Given the description of an element on the screen output the (x, y) to click on. 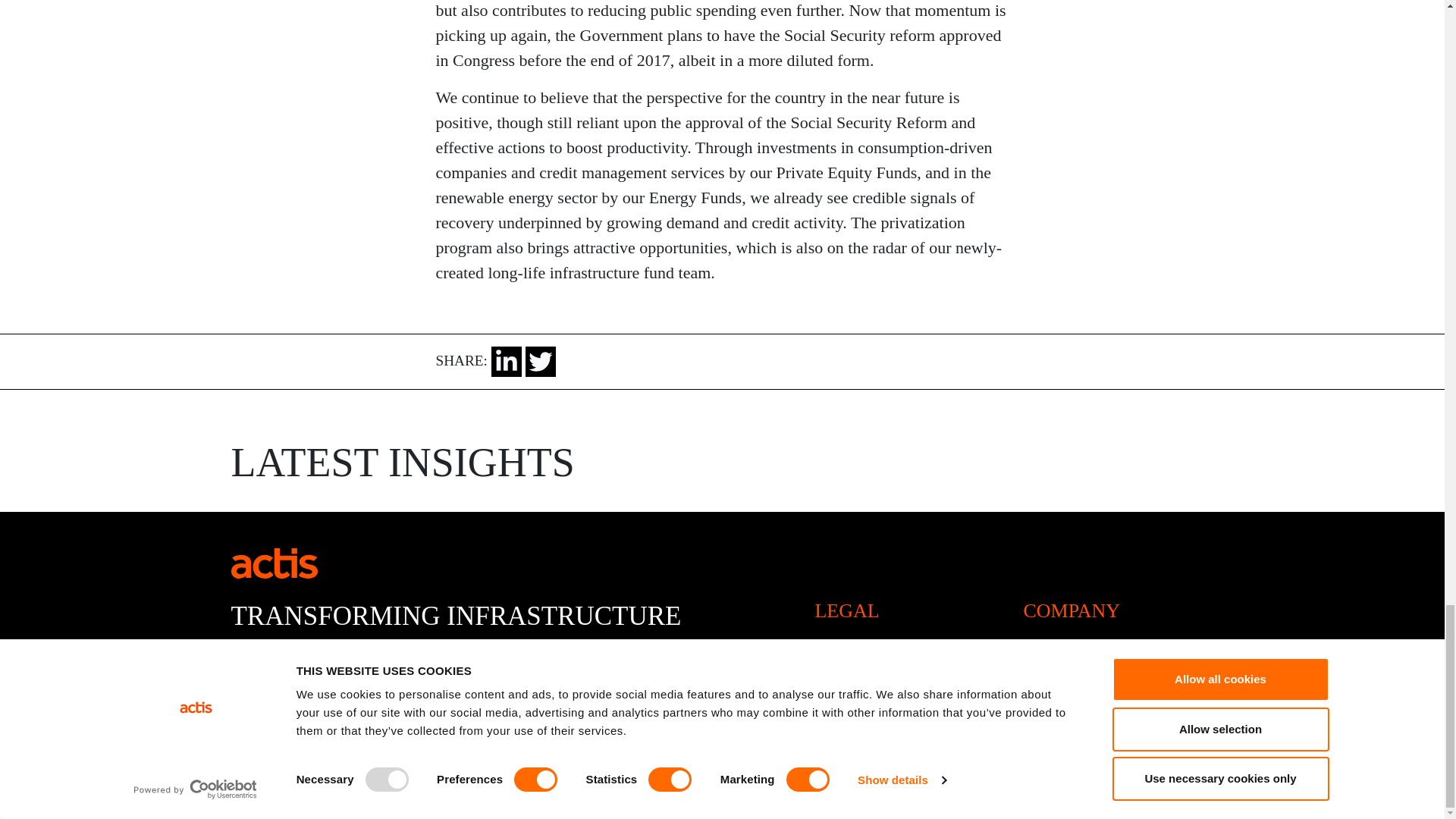
Actis (273, 561)
